Given the description of an element on the screen output the (x, y) to click on. 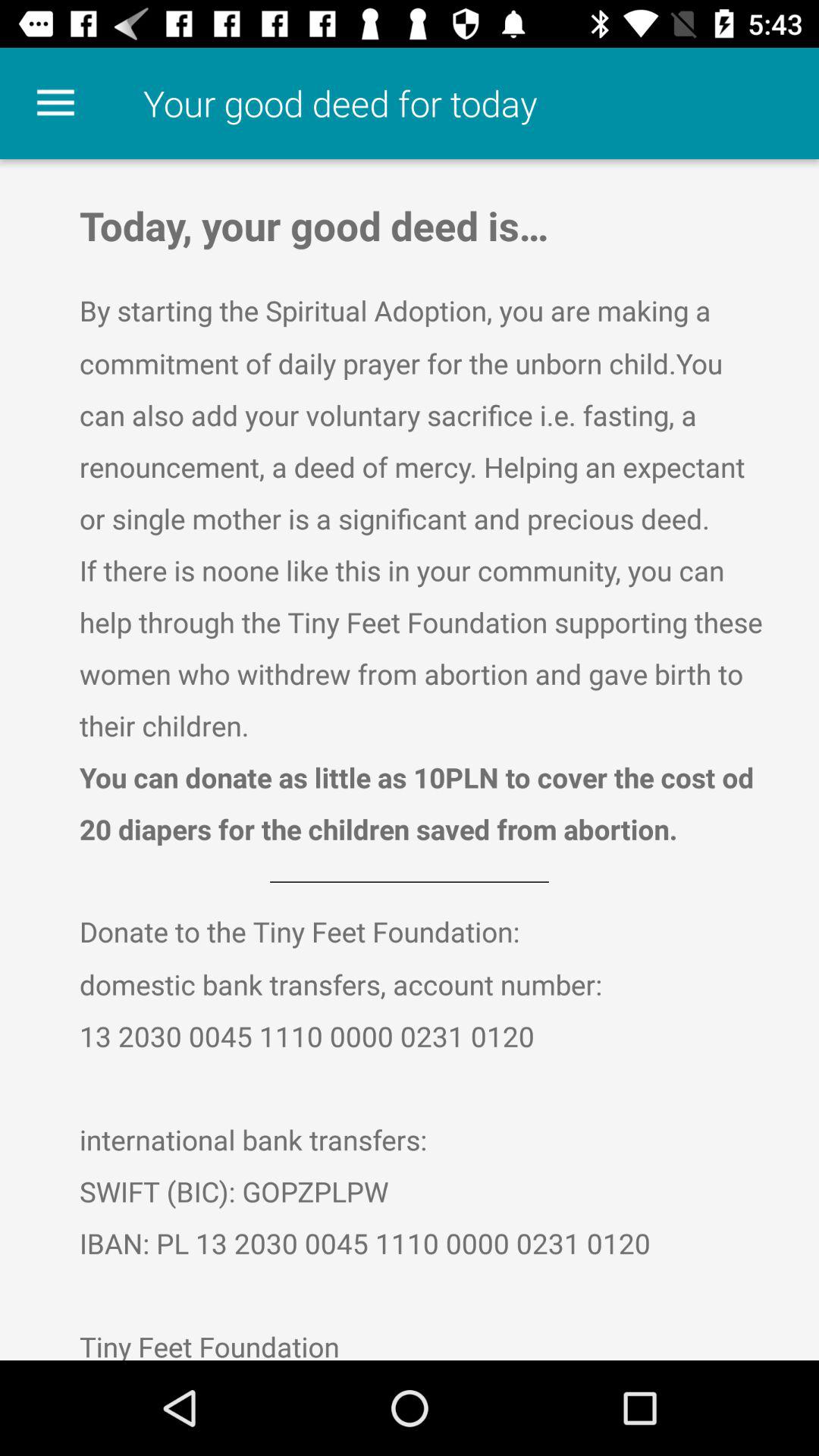
press item above the today your good (55, 103)
